Given the description of an element on the screen output the (x, y) to click on. 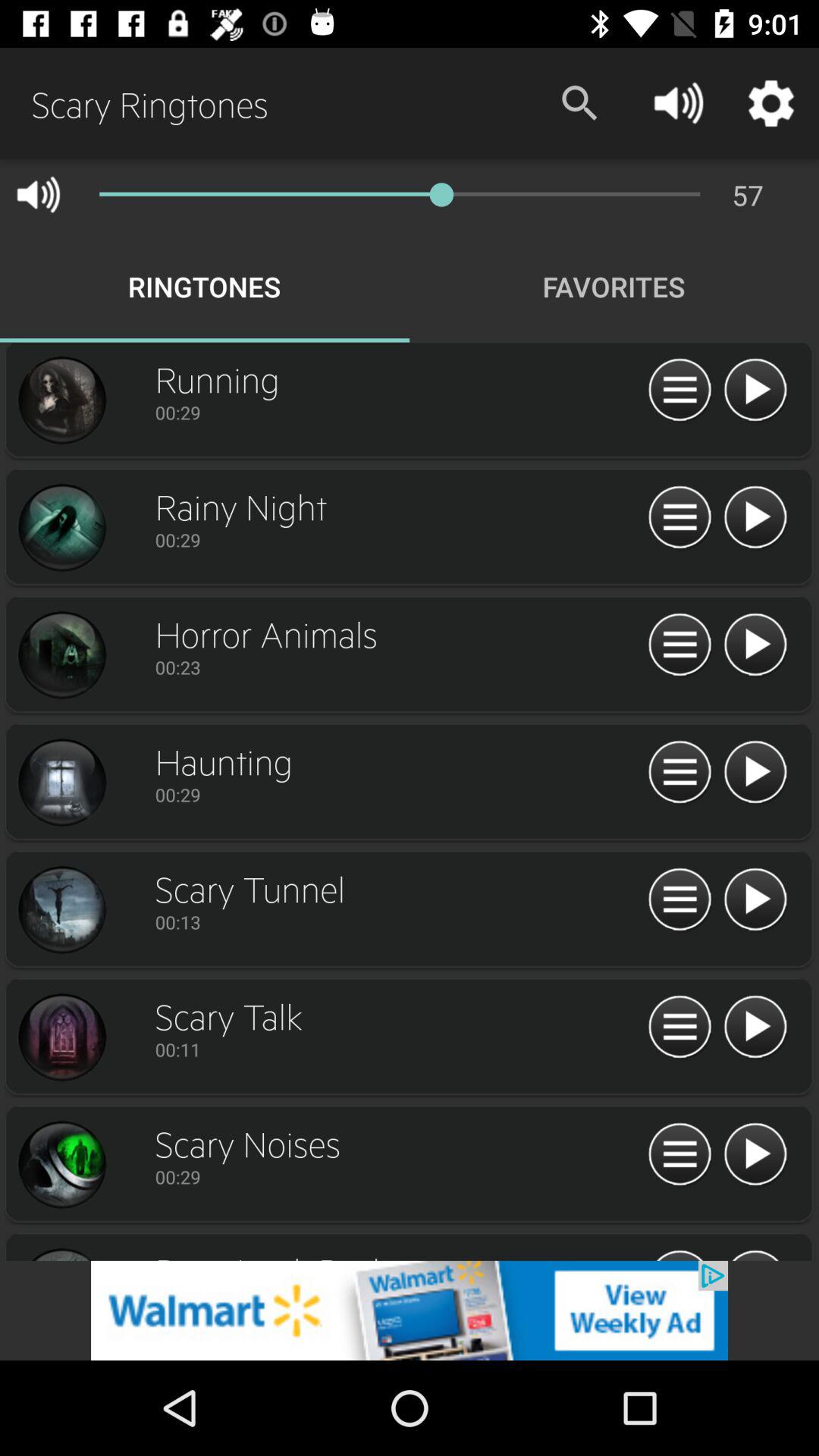
go to play option (755, 1154)
